Given the description of an element on the screen output the (x, y) to click on. 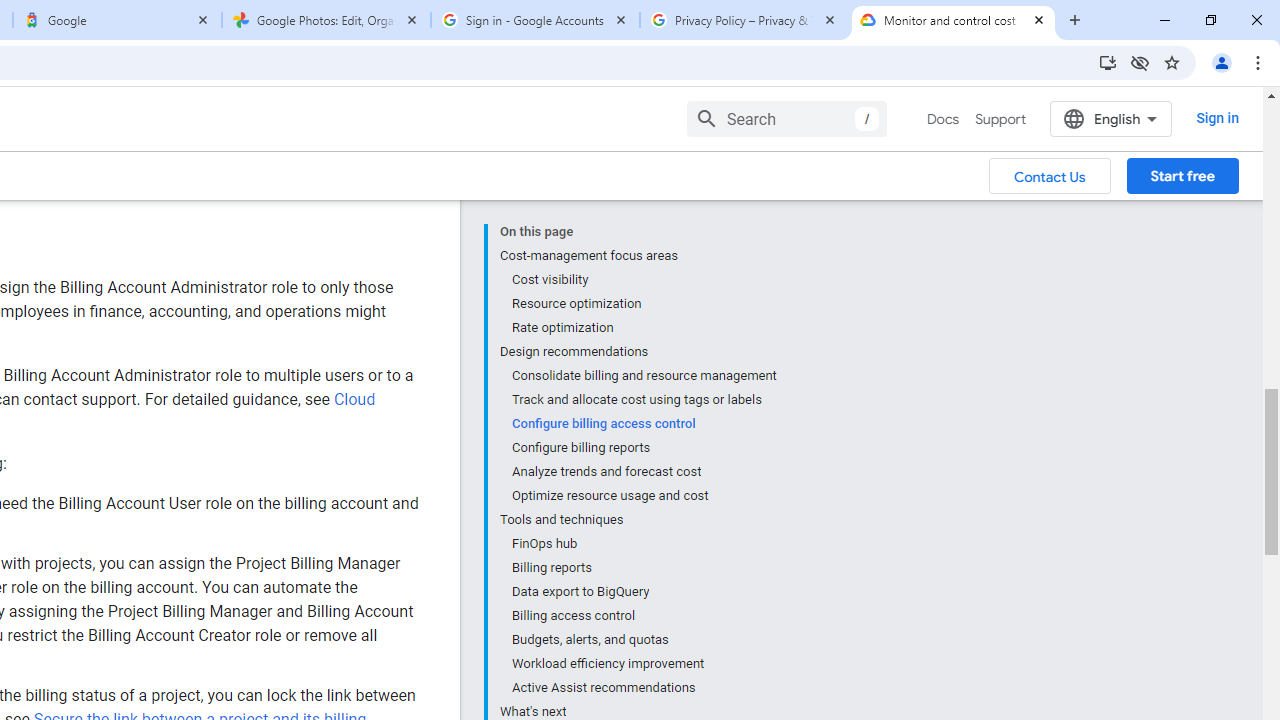
Configure billing reports (643, 448)
Budgets, alerts, and quotas (643, 639)
Sign in - Google Accounts (535, 20)
Analyze trends and forecast cost (643, 471)
Contact Us (1050, 175)
Billing reports (643, 567)
Docs, selected (942, 119)
Track and allocate cost using tags or labels (643, 399)
Optimize resource usage and cost (643, 495)
Workload efficiency improvement (643, 664)
Support (1000, 119)
